Given the description of an element on the screen output the (x, y) to click on. 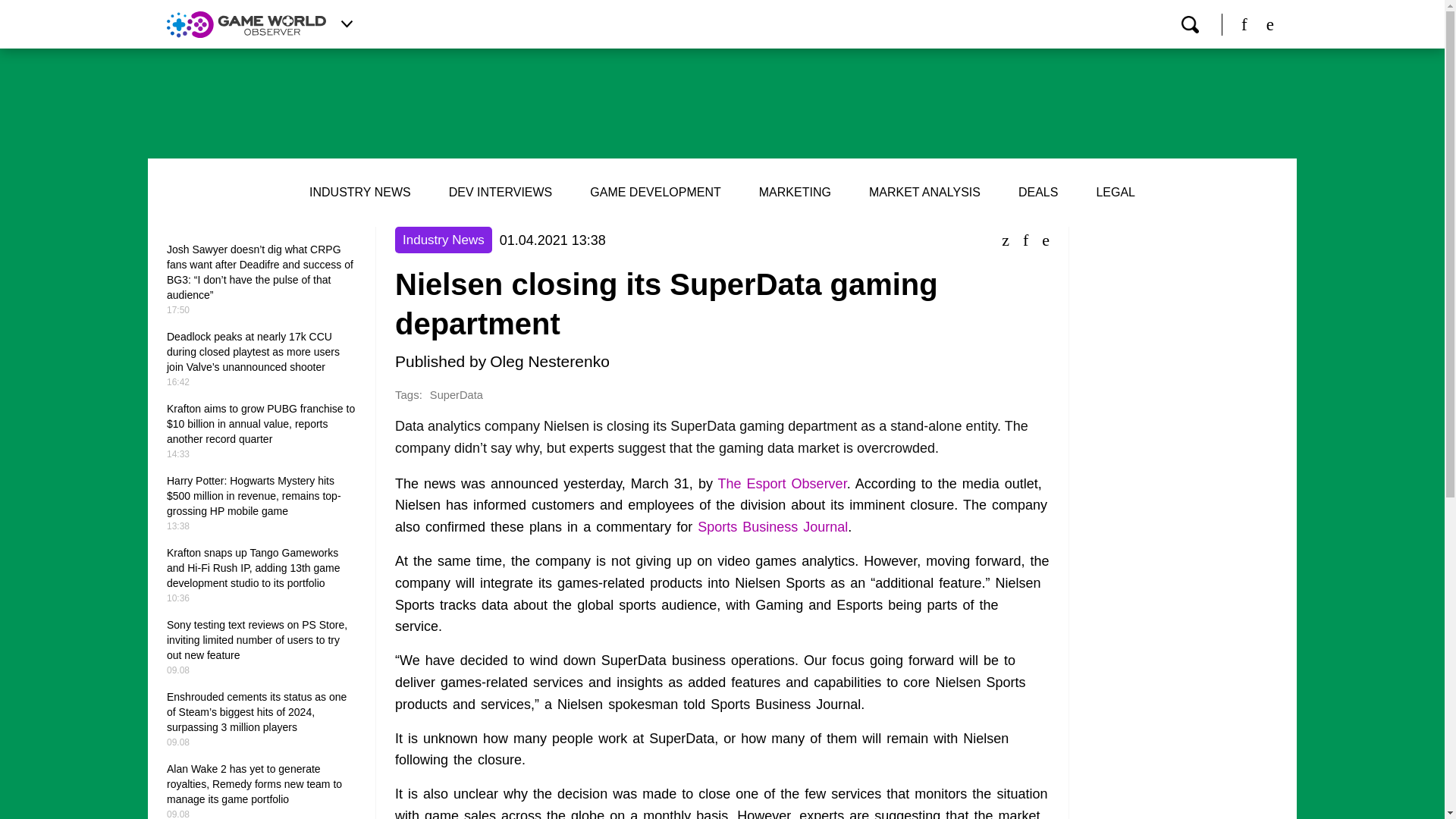
MARKET ANALYSIS (924, 192)
DEV INTERVIEWS (500, 192)
MARKETING (794, 192)
GAME DEVELOPMENT (654, 192)
Search (1189, 23)
INDUSTRY NEWS (359, 192)
Home (246, 23)
